Given the description of an element on the screen output the (x, y) to click on. 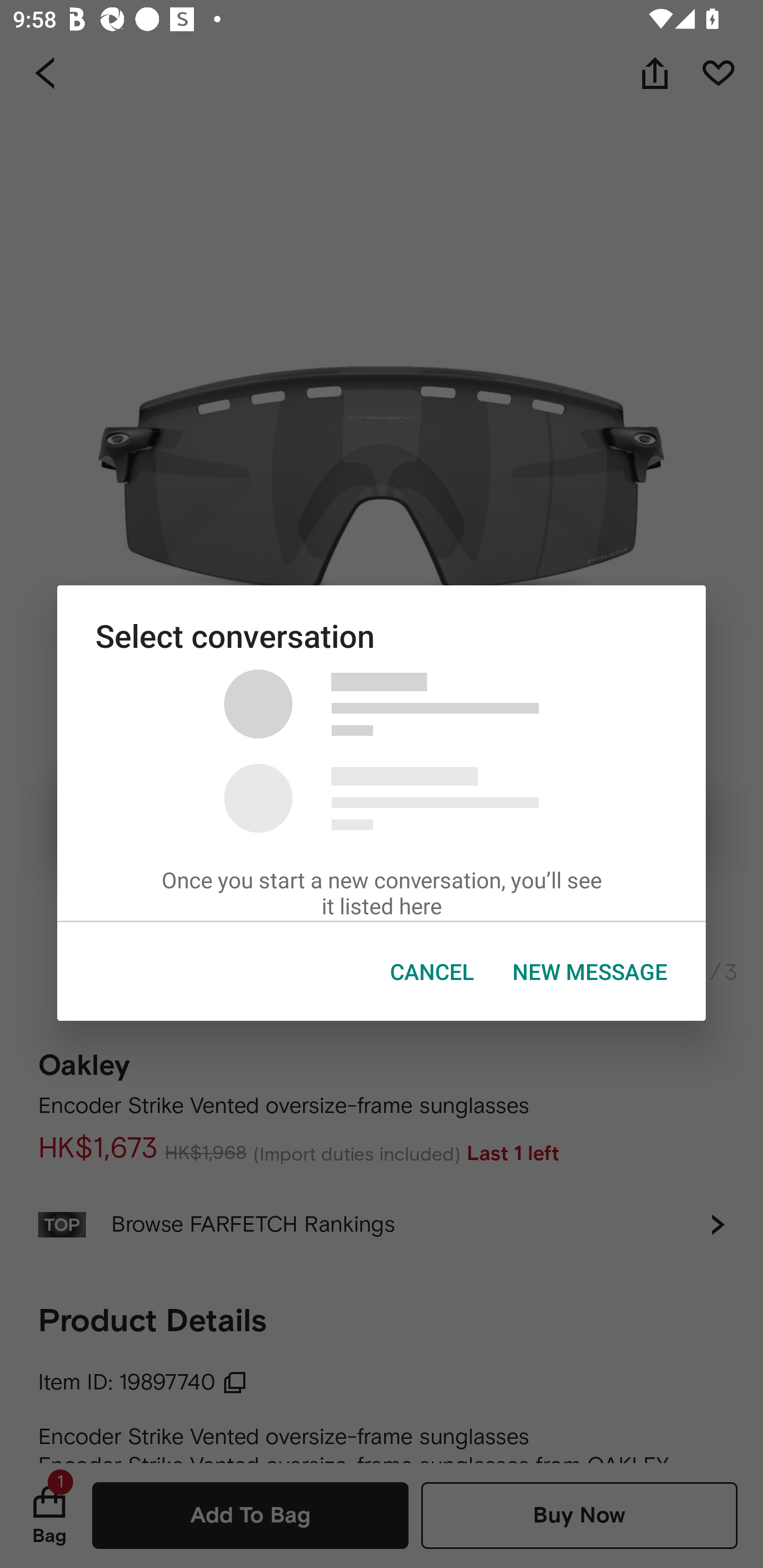
CANCEL (431, 971)
NEW MESSAGE (589, 971)
